Given the description of an element on the screen output the (x, y) to click on. 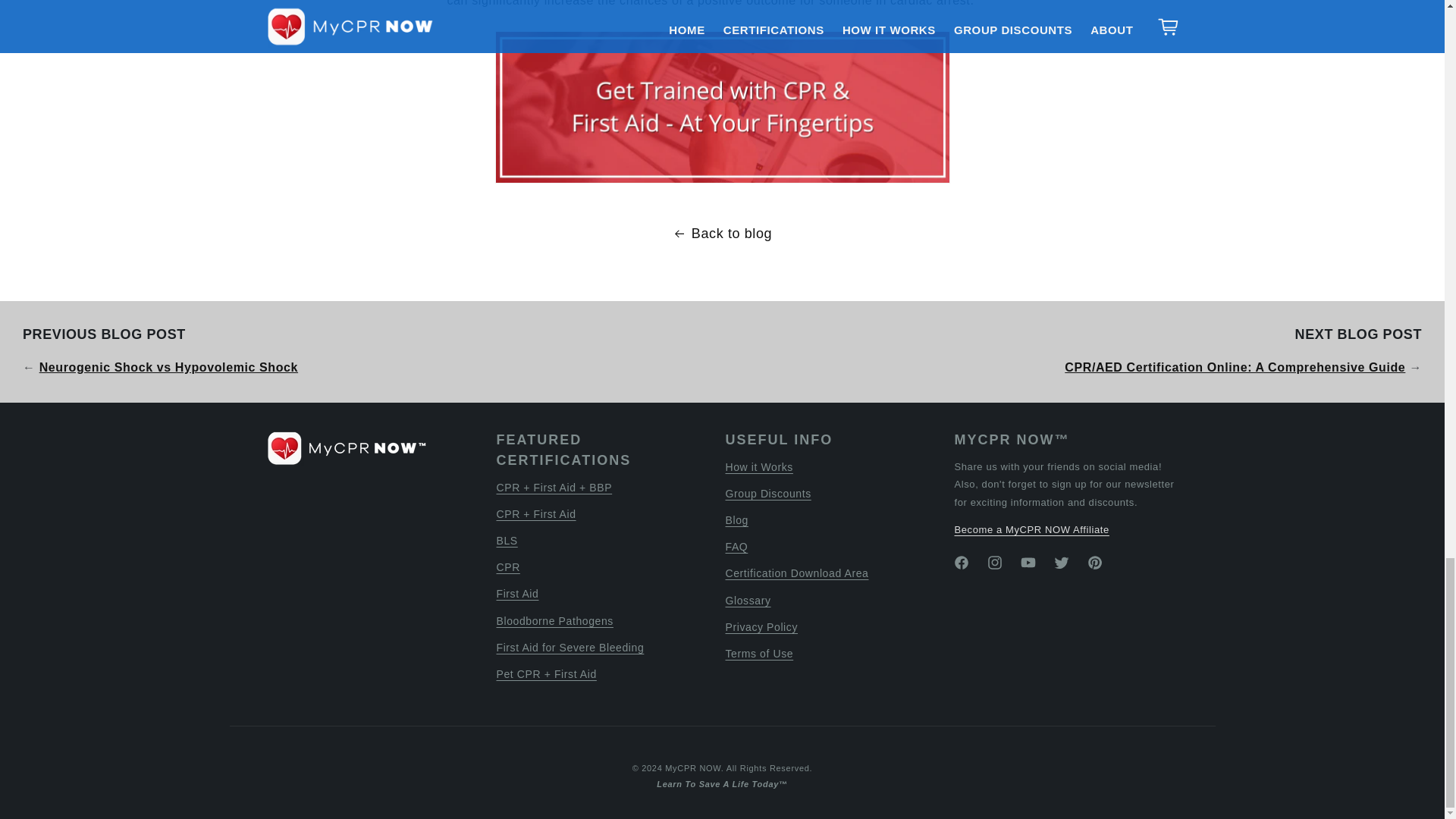
CPR Certification (721, 107)
